Given the description of an element on the screen output the (x, y) to click on. 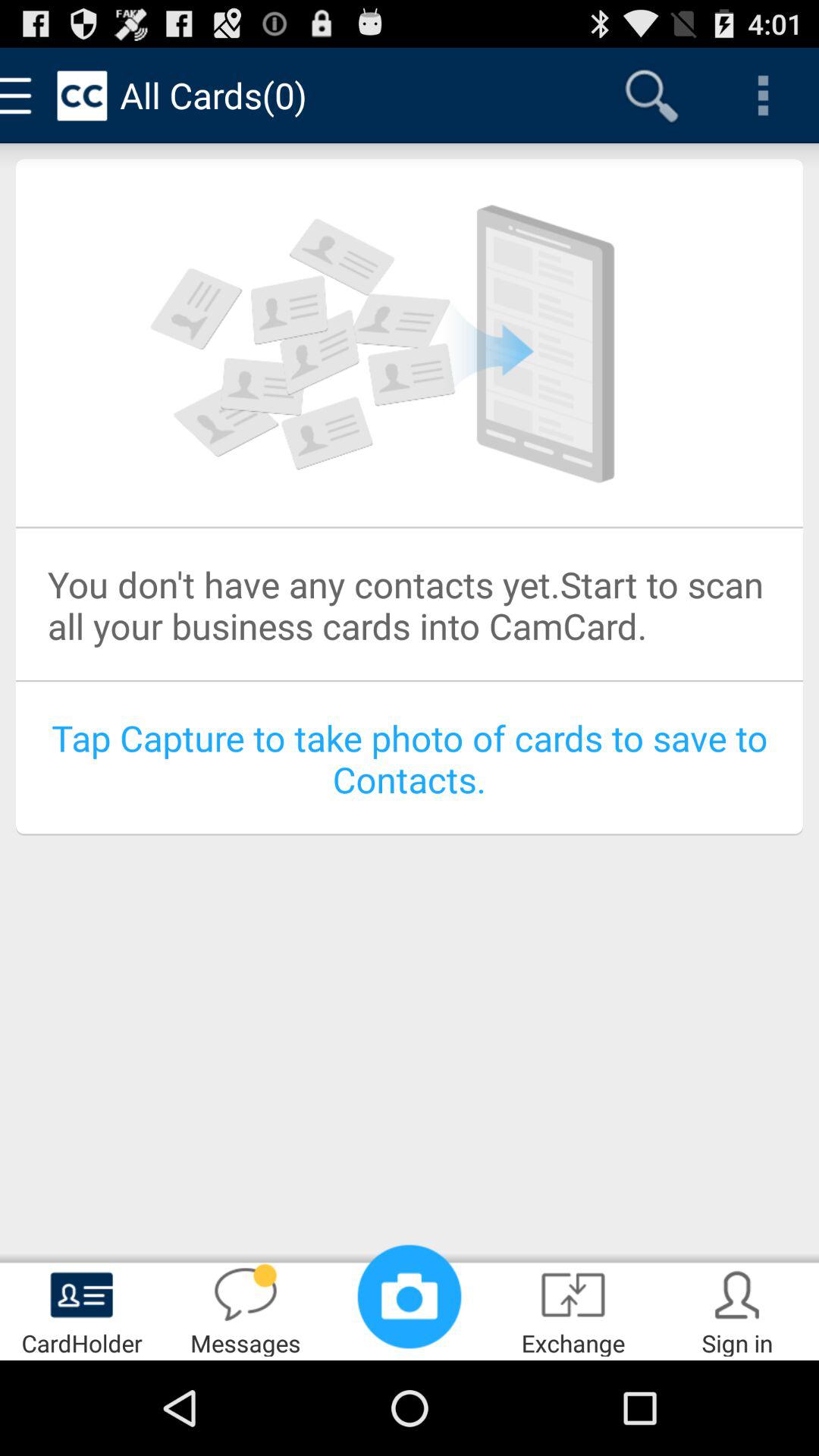
click the app below the tap capture to app (409, 1296)
